Given the description of an element on the screen output the (x, y) to click on. 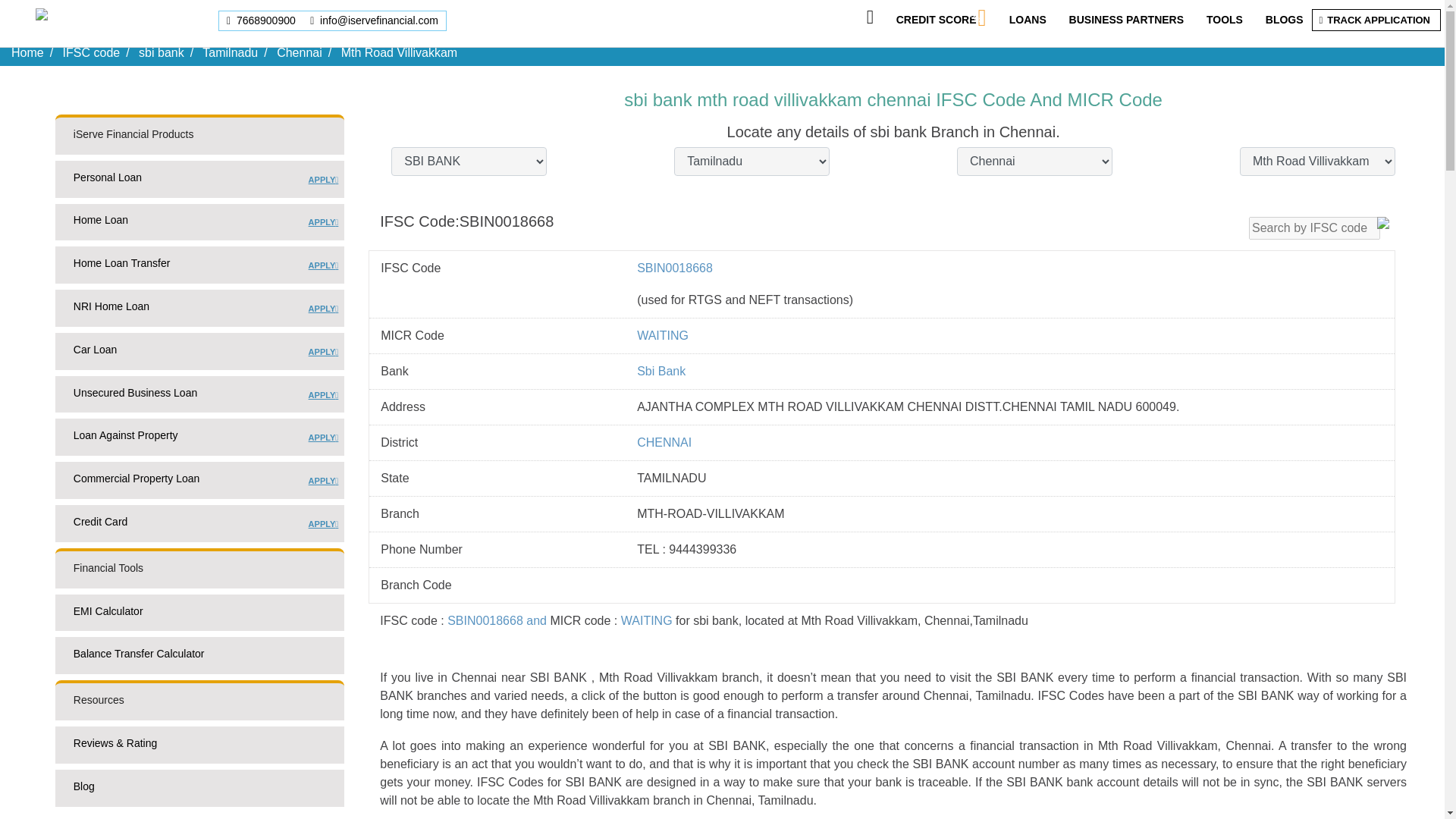
BLOGS (199, 181)
sbi bank (1284, 19)
Tamilnadu (161, 51)
BUSINESS PARTNERS (229, 51)
 7668900900 (1125, 19)
Home (262, 20)
IFSC code (27, 51)
TRACK APPLICATION (91, 51)
Chennai (1377, 19)
CREDIT SCORE (199, 267)
